Given the description of an element on the screen output the (x, y) to click on. 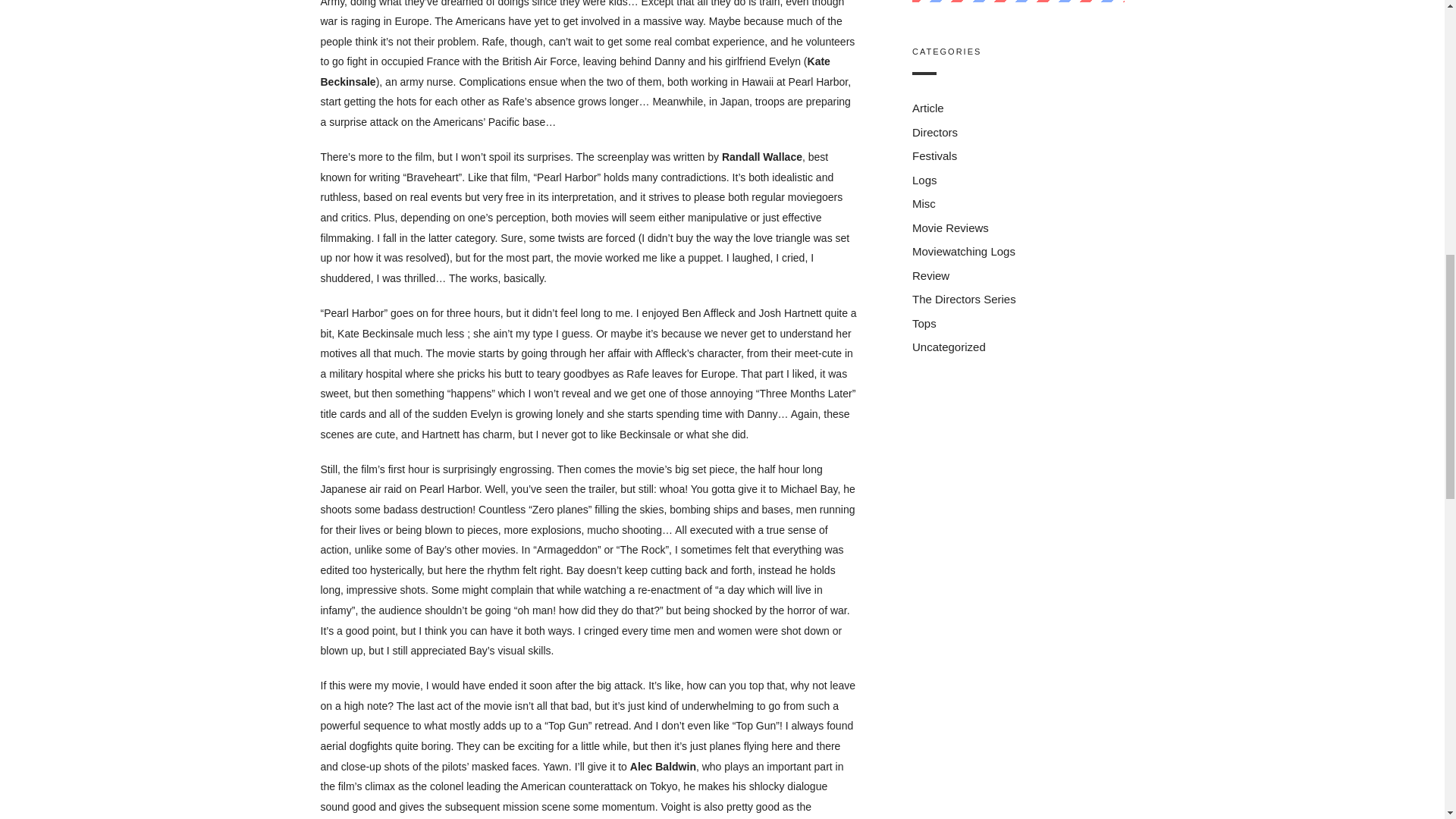
Article (927, 108)
